Given the description of an element on the screen output the (x, y) to click on. 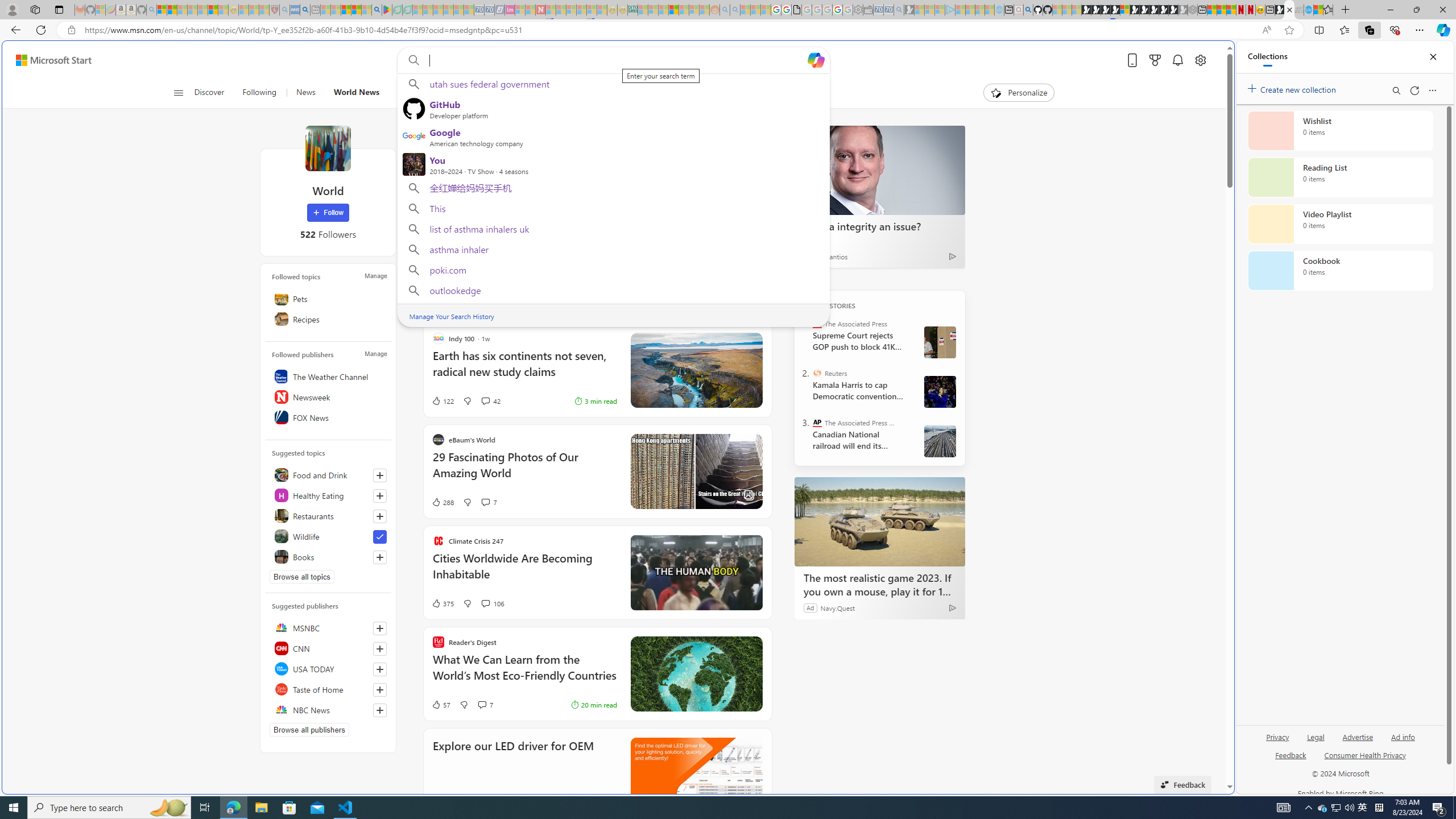
Close split screen (1208, 57)
